Given the description of an element on the screen output the (x, y) to click on. 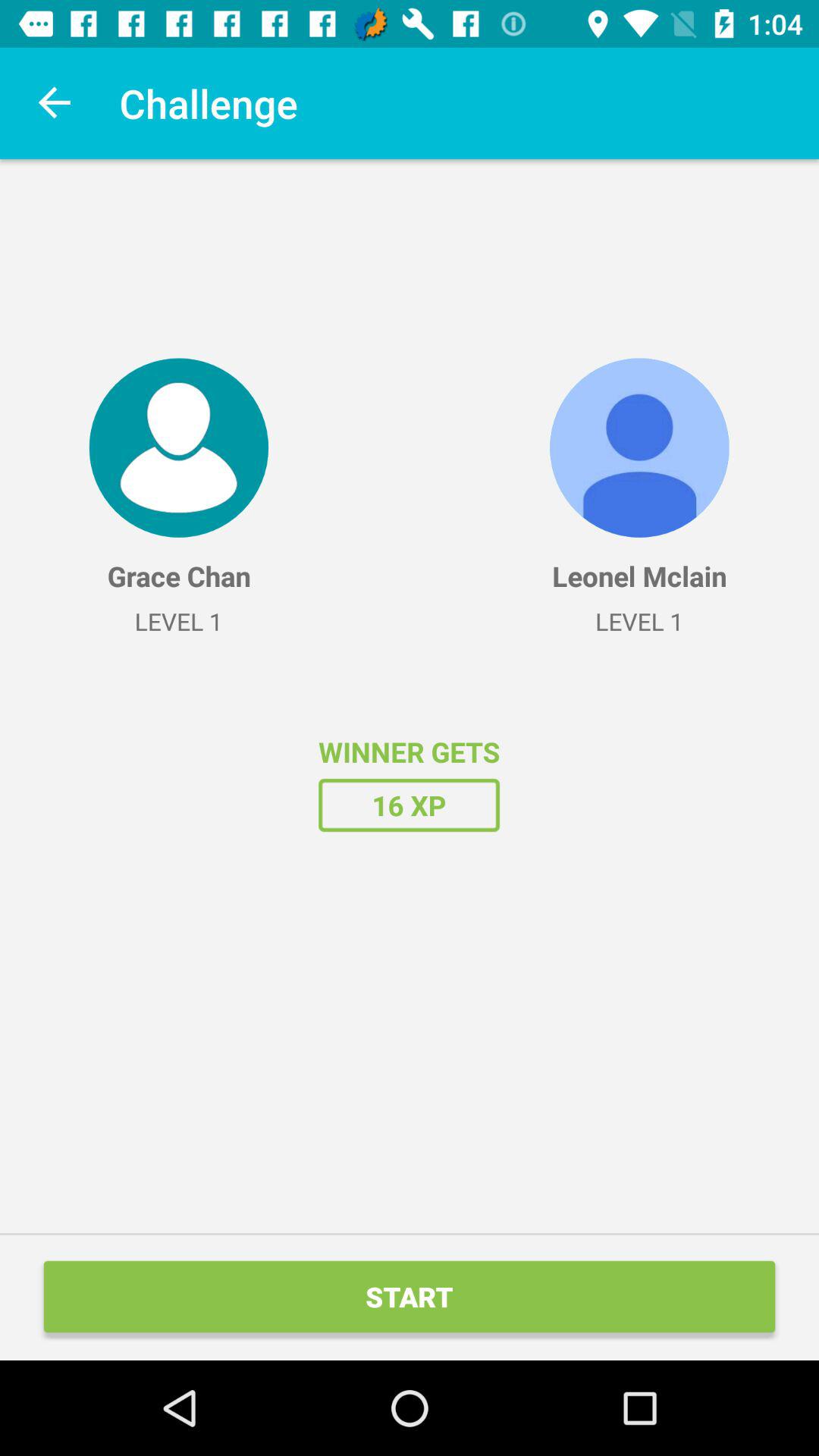
open item next to the challenge item (55, 103)
